Given the description of an element on the screen output the (x, y) to click on. 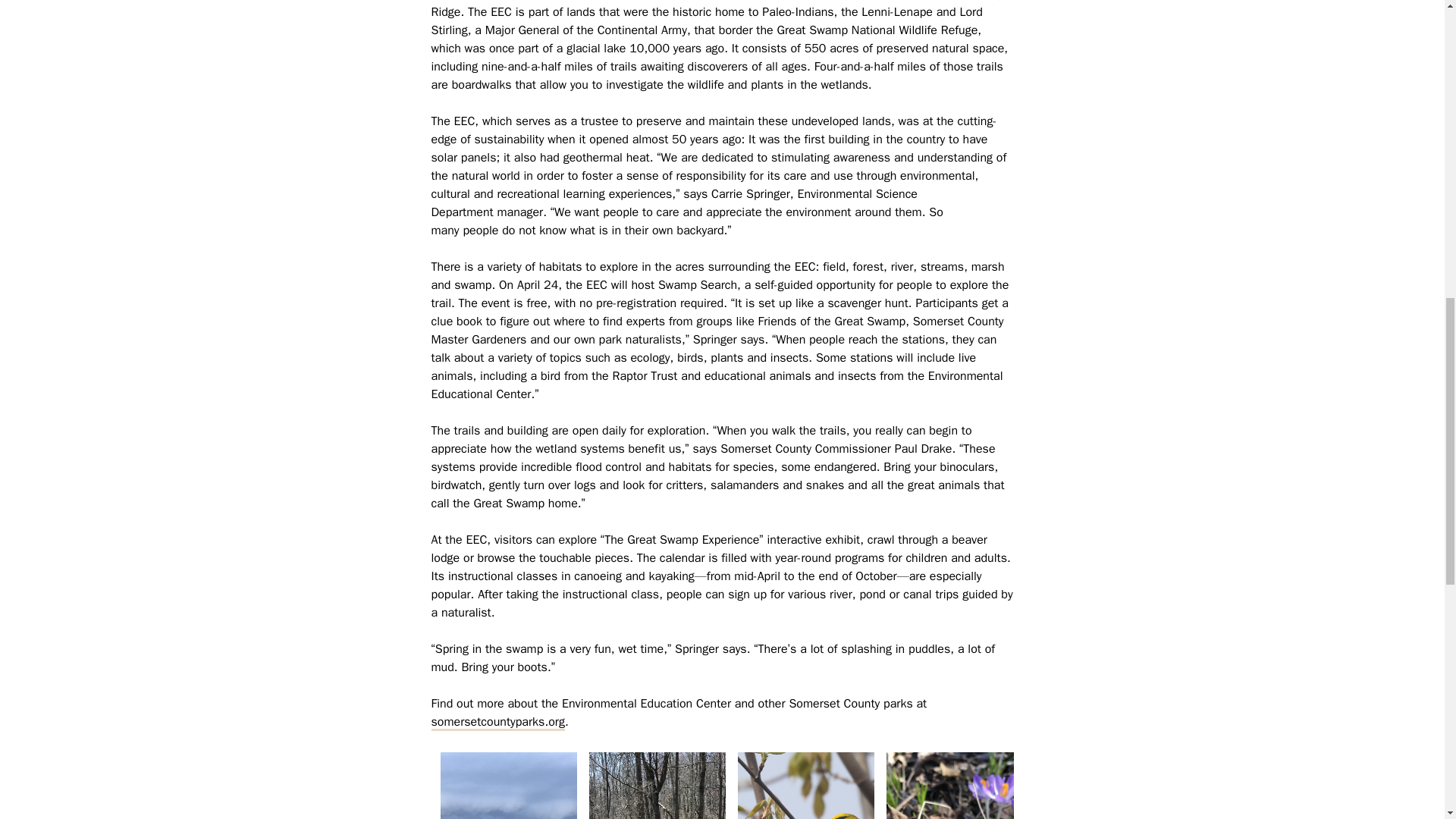
somersetcountyparks.org (497, 721)
